Given the description of an element on the screen output the (x, y) to click on. 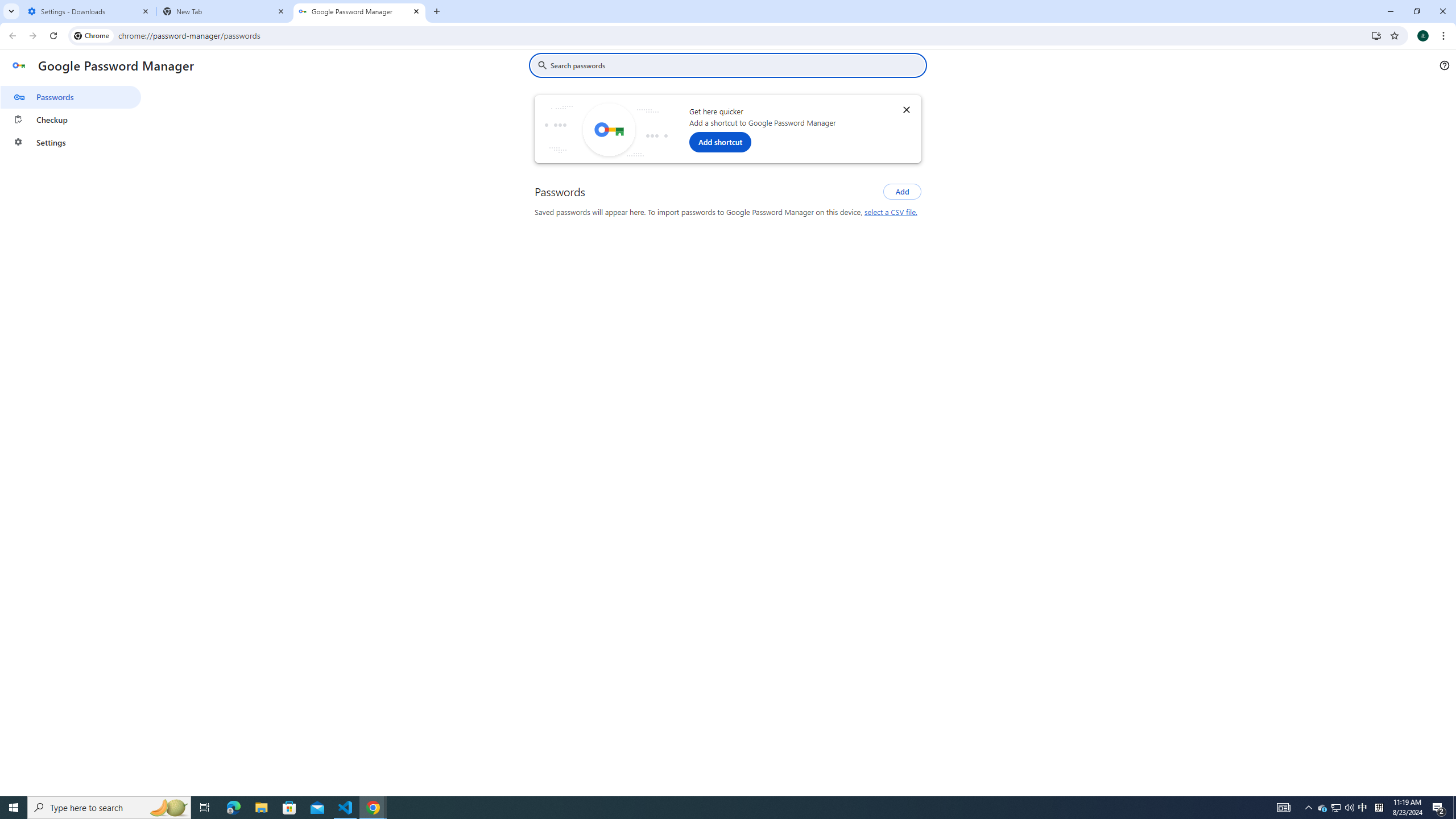
Help (1444, 65)
New Tab (224, 11)
Search passwords (735, 65)
Settings (70, 142)
Dismiss recommendation (905, 109)
Google Password Manager (359, 11)
